Given the description of an element on the screen output the (x, y) to click on. 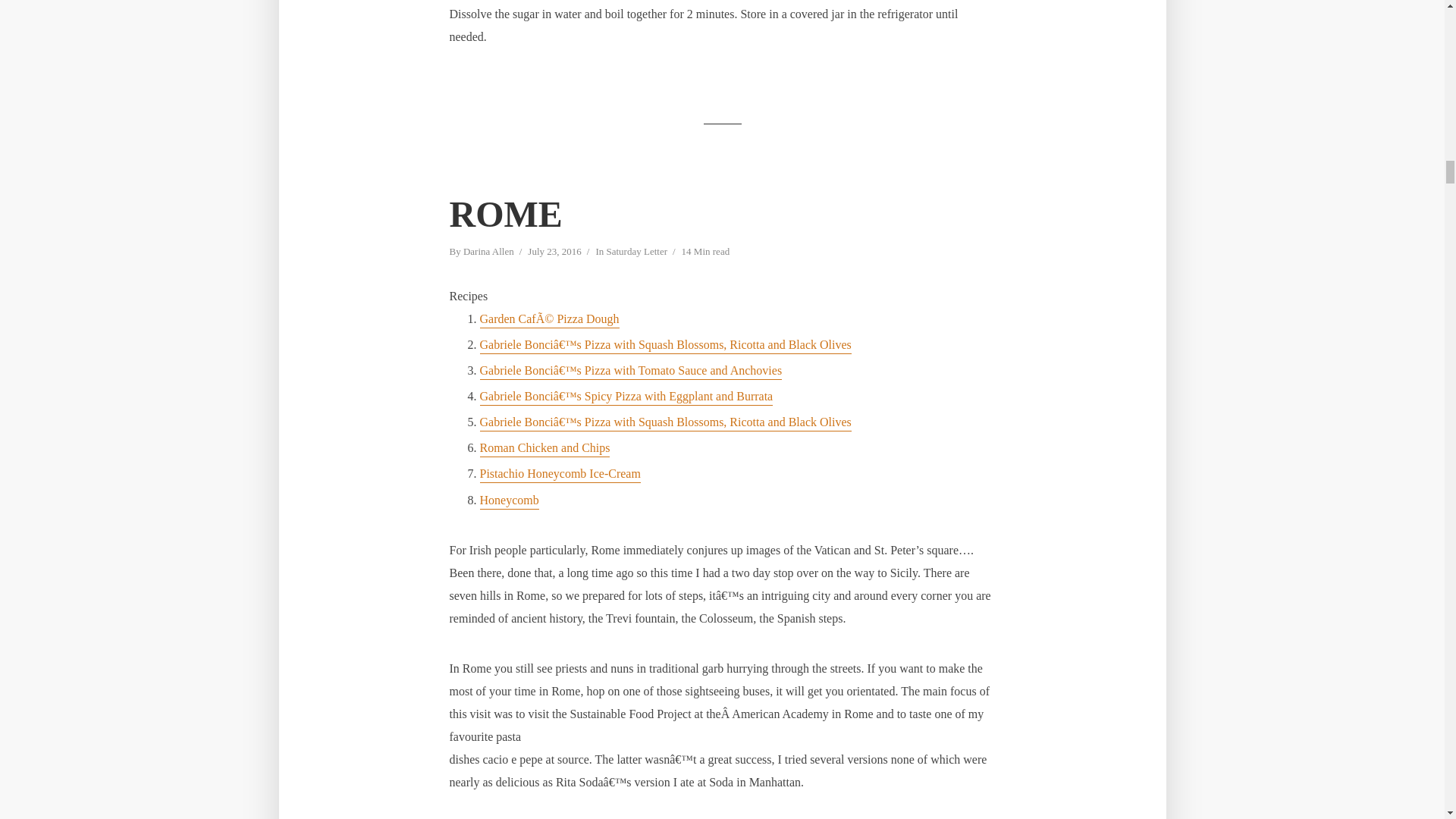
Pistachio Honeycomb Ice-Cream (559, 474)
Saturday Letter (635, 252)
Honeycomb (508, 501)
Roman Chicken and Chips (544, 449)
Darina Allen (488, 252)
ROME (505, 214)
